Given the description of an element on the screen output the (x, y) to click on. 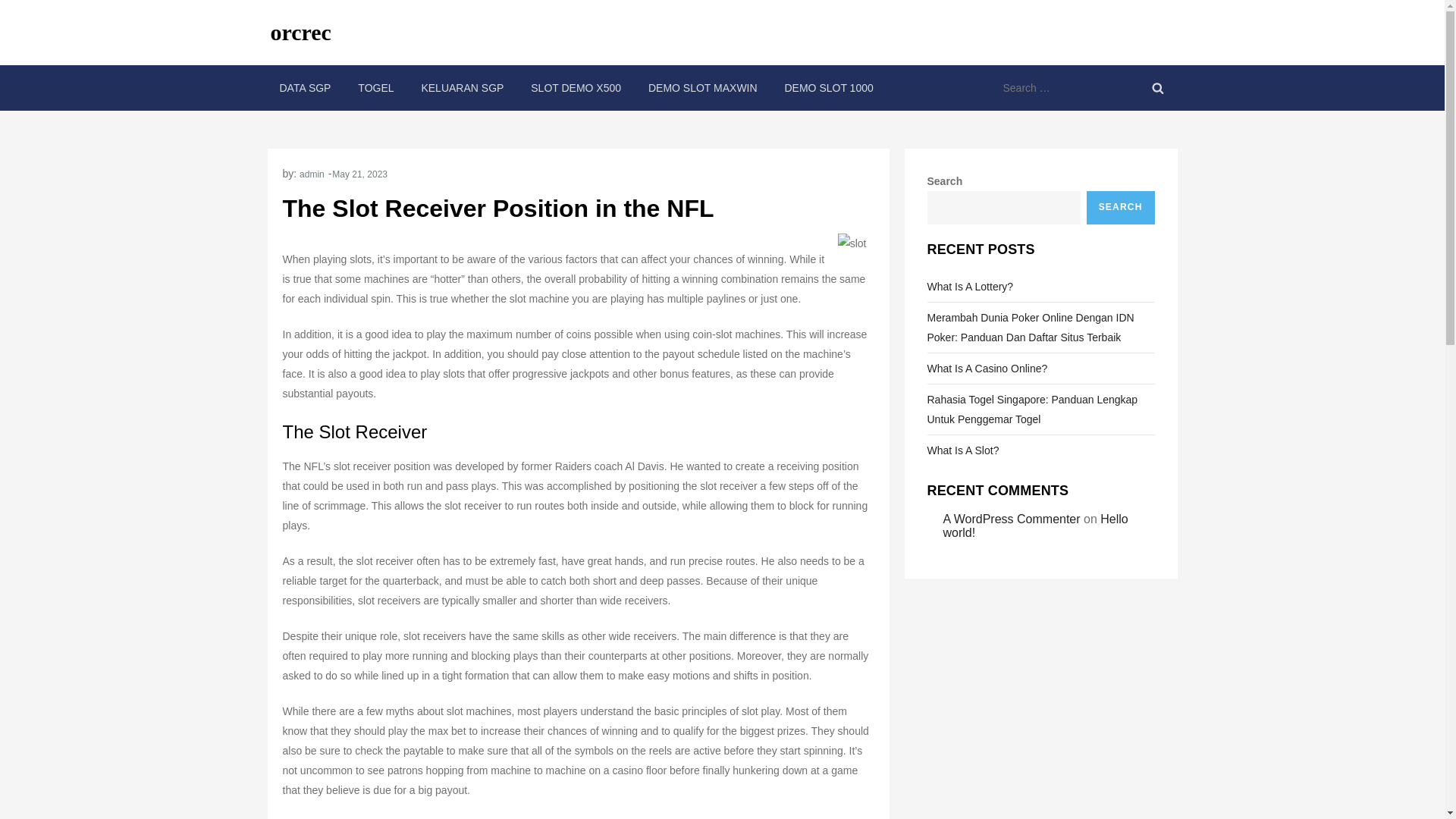
DEMO SLOT 1000 (828, 87)
SLOT DEMO X500 (575, 87)
orcrec (300, 32)
DEMO SLOT MAXWIN (703, 87)
Hello world! (1035, 525)
A WordPress Commenter (1011, 518)
KELUARAN SGP (462, 87)
What Is A Lottery? (969, 286)
TOGEL (376, 87)
DATA SGP (304, 87)
admin (311, 173)
What Is A Slot? (962, 450)
SEARCH (1120, 207)
